Given the description of an element on the screen output the (x, y) to click on. 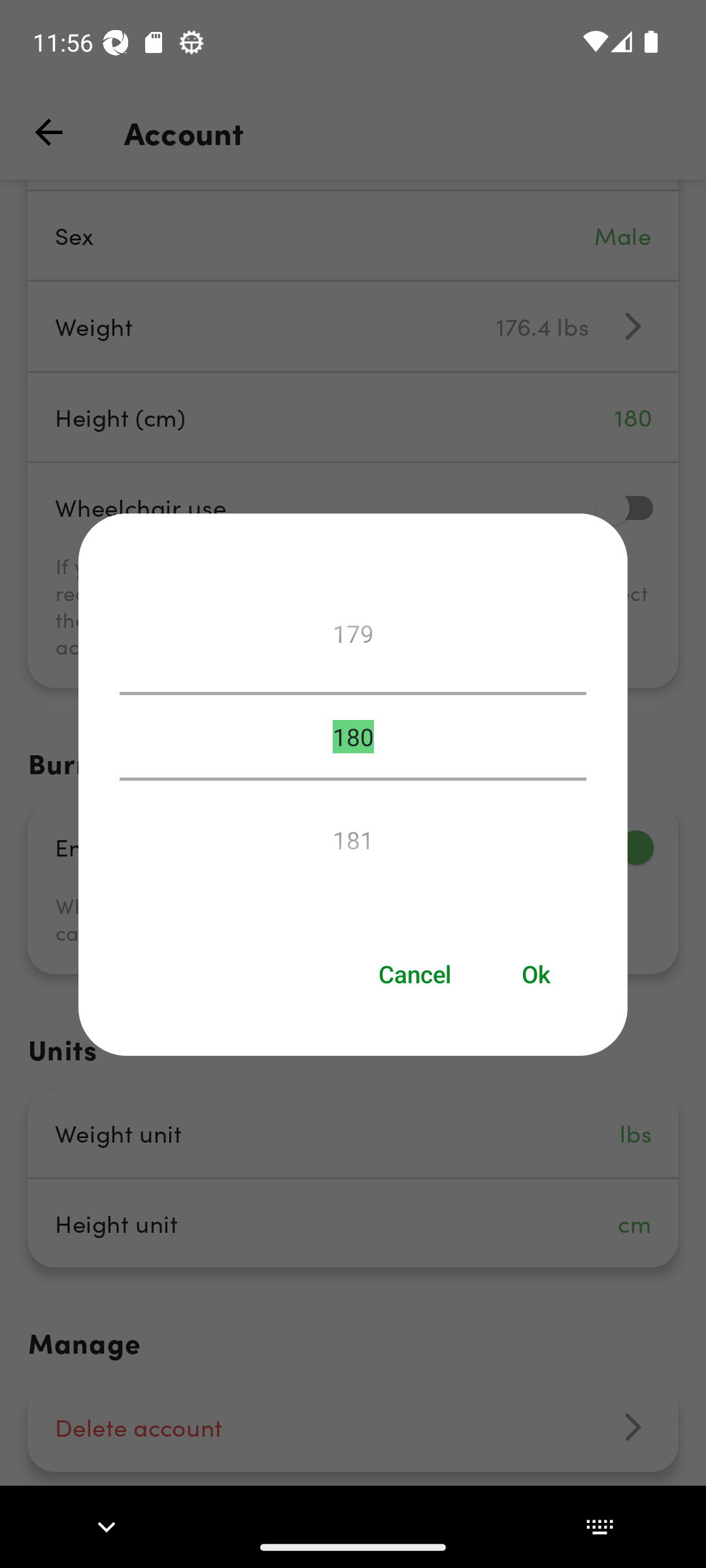
179 (352, 637)
180 (352, 735)
181 (352, 833)
Cancel (415, 974)
Ok (536, 974)
